Given the description of an element on the screen output the (x, y) to click on. 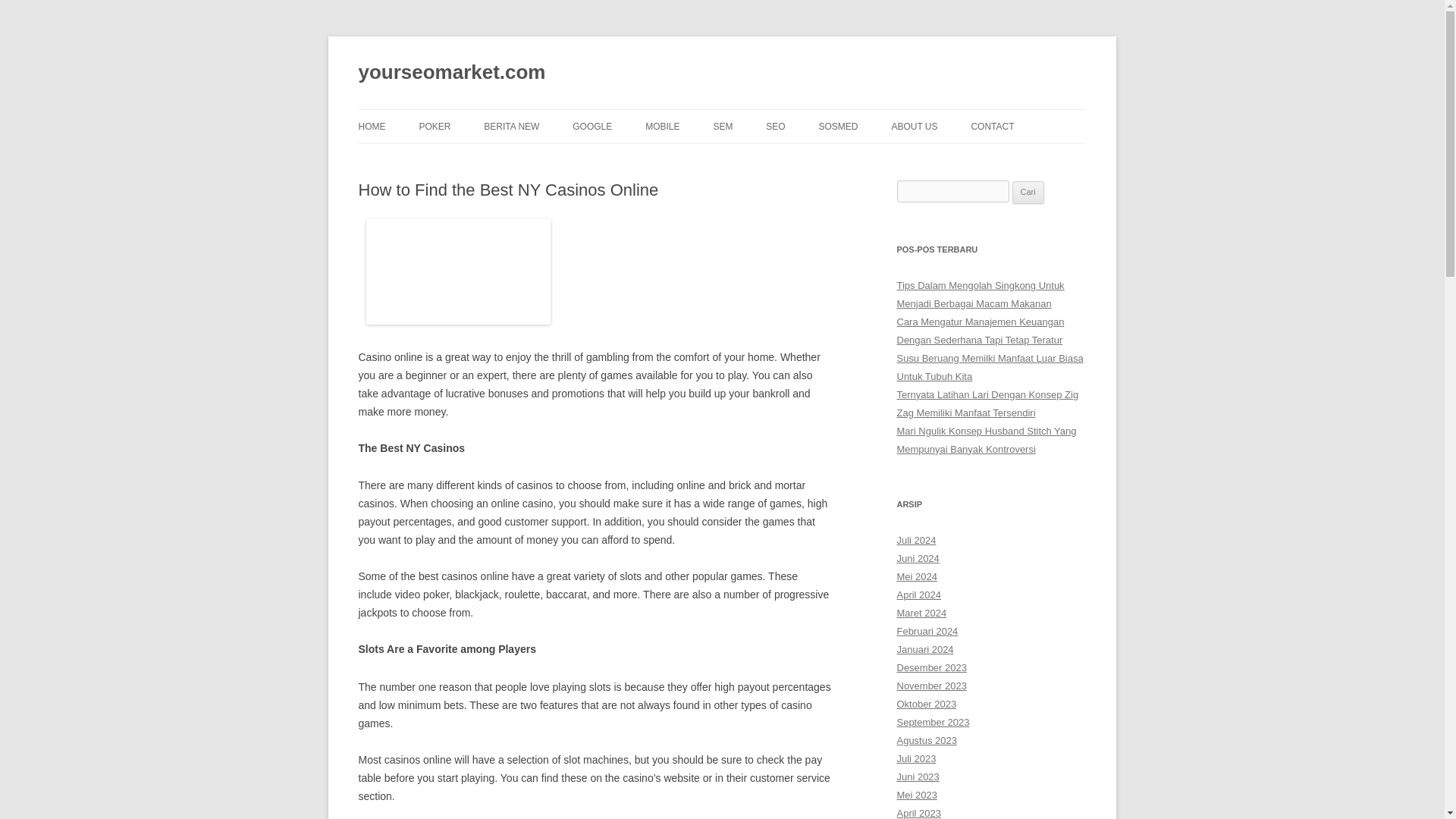
Agustus 2023 (926, 740)
Juli 2024 (916, 540)
Maret 2024 (921, 613)
Juni 2023 (917, 776)
Mei 2023 (916, 794)
yourseomarket.com (451, 72)
BERITA NEW (510, 126)
April 2024 (918, 594)
November 2023 (931, 685)
SOSMED (838, 126)
September 2023 (932, 722)
Desember 2023 (931, 667)
Januari 2024 (924, 649)
